Given the description of an element on the screen output the (x, y) to click on. 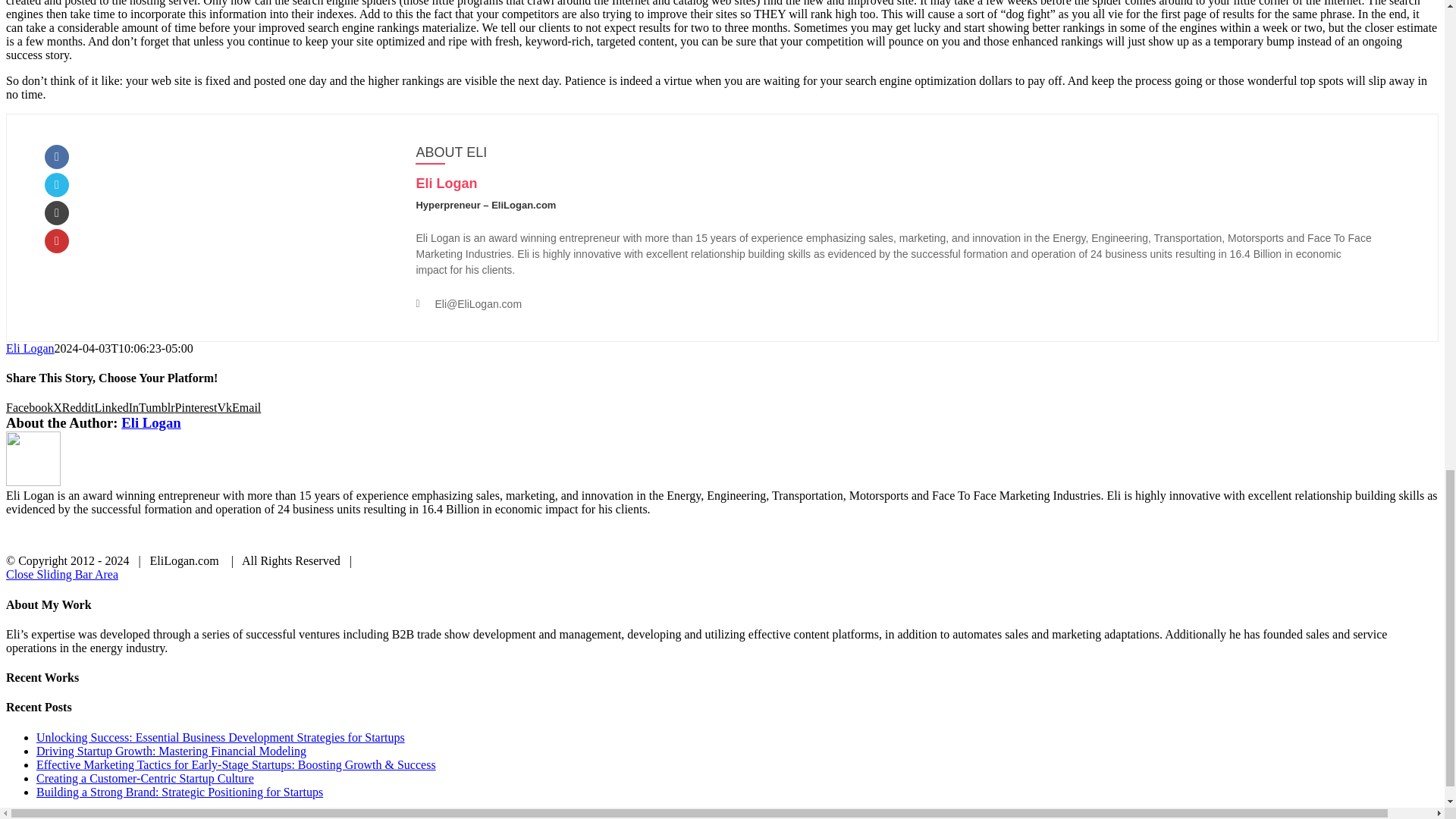
Posts by Eli Logan (150, 422)
B2B Trade Shows (562, 535)
Email (245, 407)
Pinterest (195, 407)
Entrepreneurship (677, 535)
Vk (224, 407)
LinkedIn (116, 407)
Reddit (78, 407)
Tumblr (156, 407)
Driving Startup Growth: Mastering Financial Modeling (170, 750)
